Given the description of an element on the screen output the (x, y) to click on. 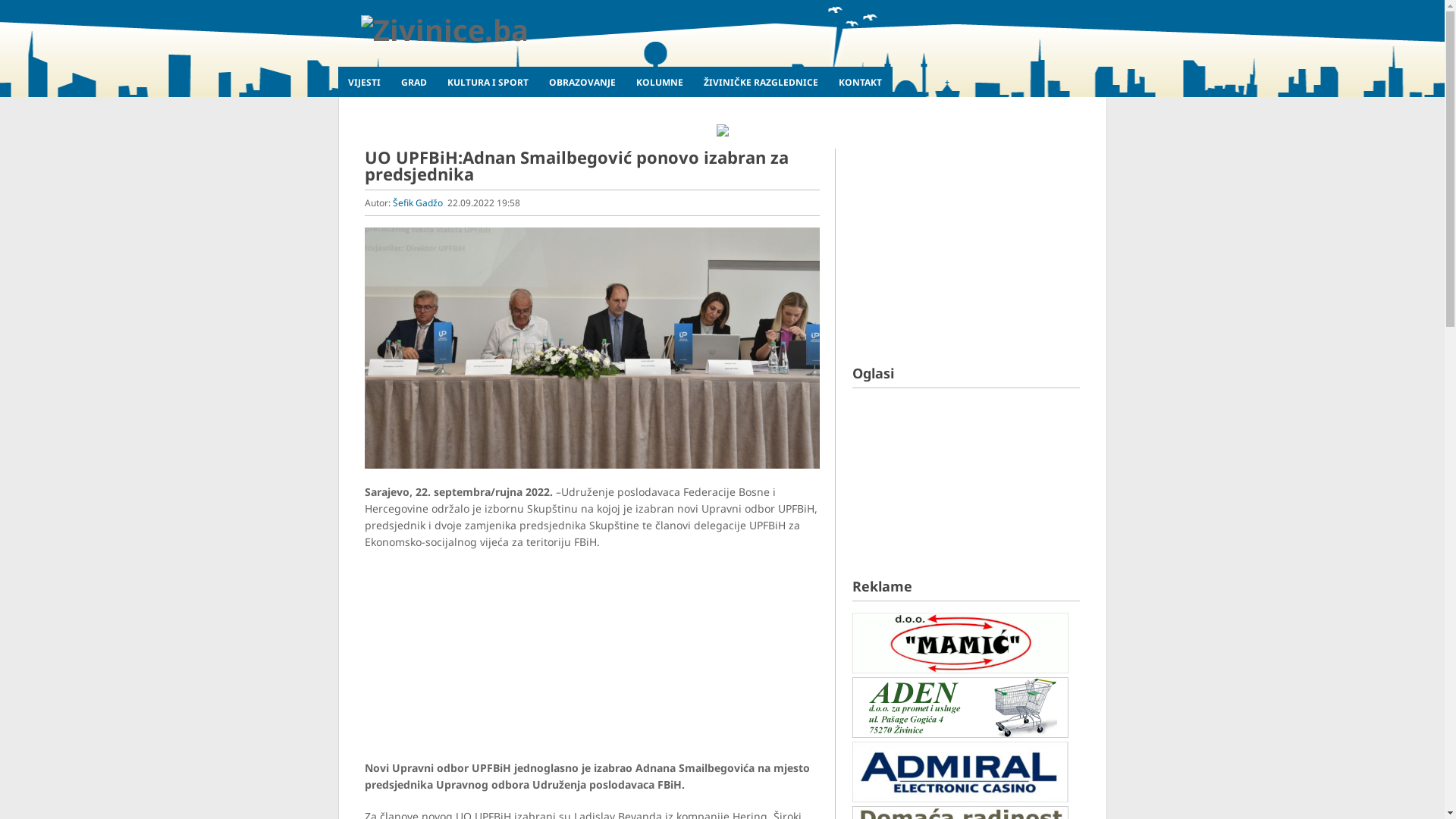
GRAD Element type: text (414, 81)
VIJESTI Element type: text (364, 81)
Advertisement Element type: hover (965, 243)
KONTAKT Element type: text (859, 81)
KOLUMNE Element type: text (659, 81)
KULTURA I SPORT Element type: text (487, 81)
OBRAZOVANJE Element type: text (581, 81)
Advertisement Element type: hover (591, 660)
